Given the description of an element on the screen output the (x, y) to click on. 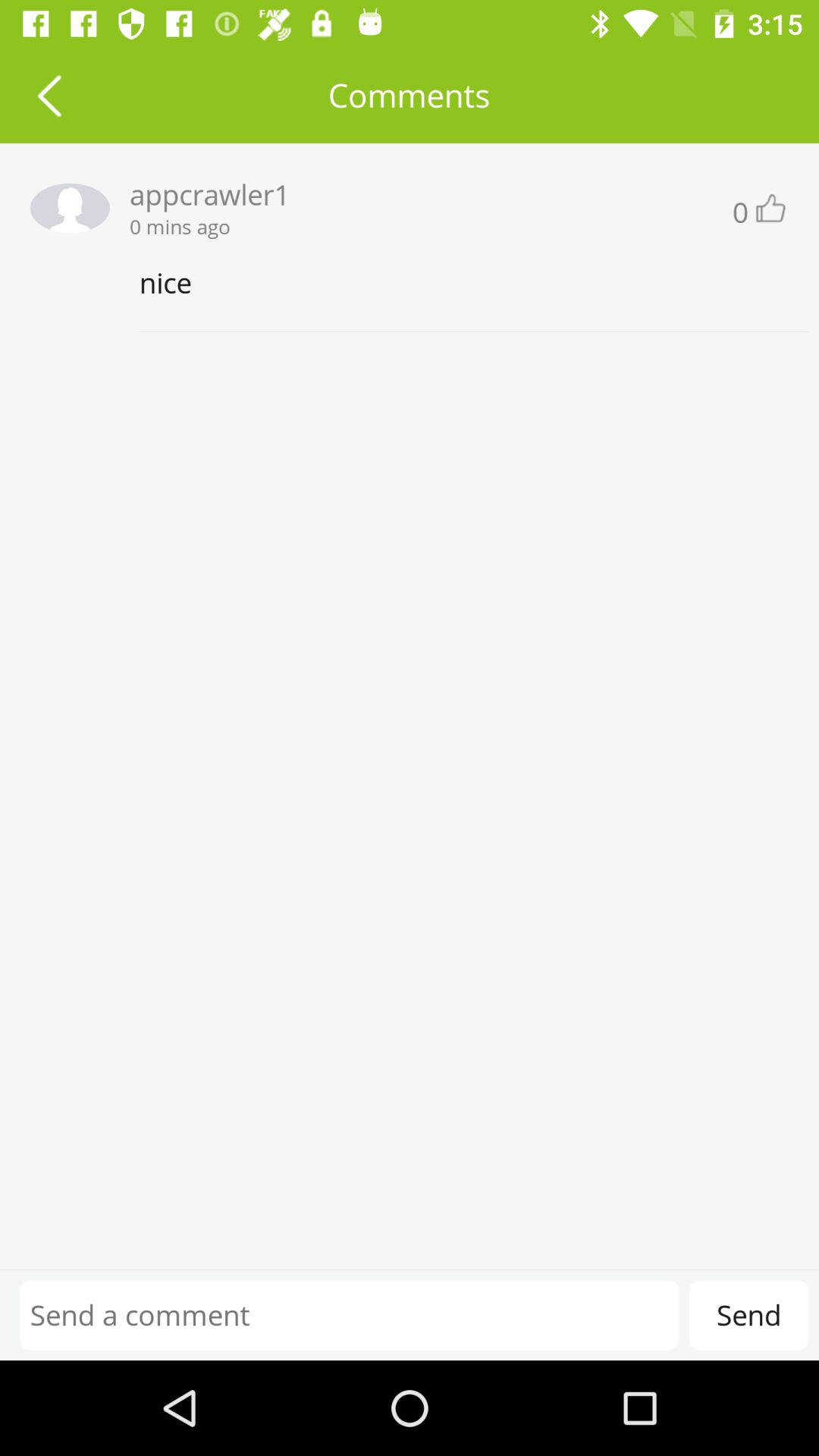
click to open keyboard and add comment (349, 1315)
